Given the description of an element on the screen output the (x, y) to click on. 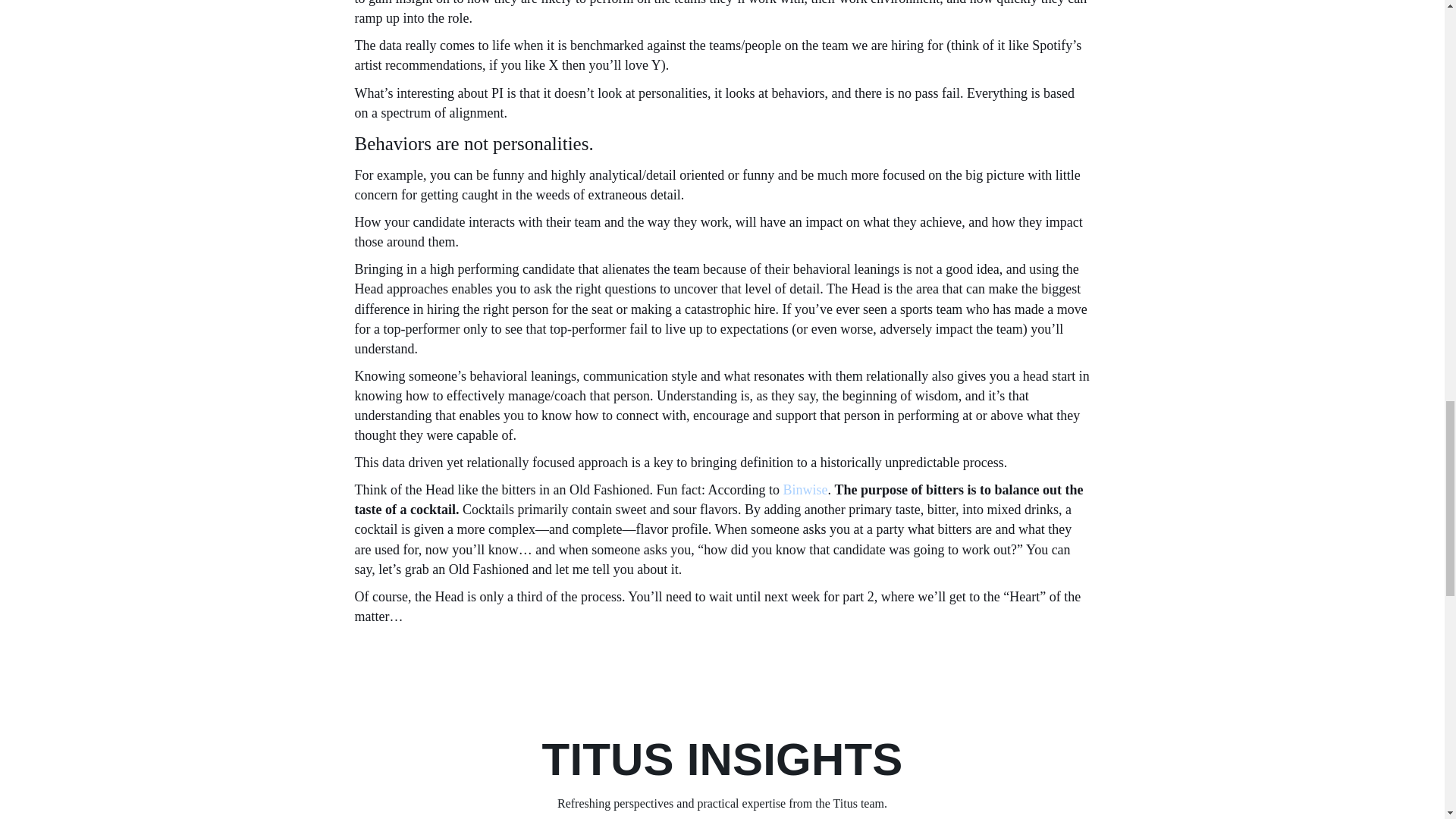
Binwise (805, 489)
